Given the description of an element on the screen output the (x, y) to click on. 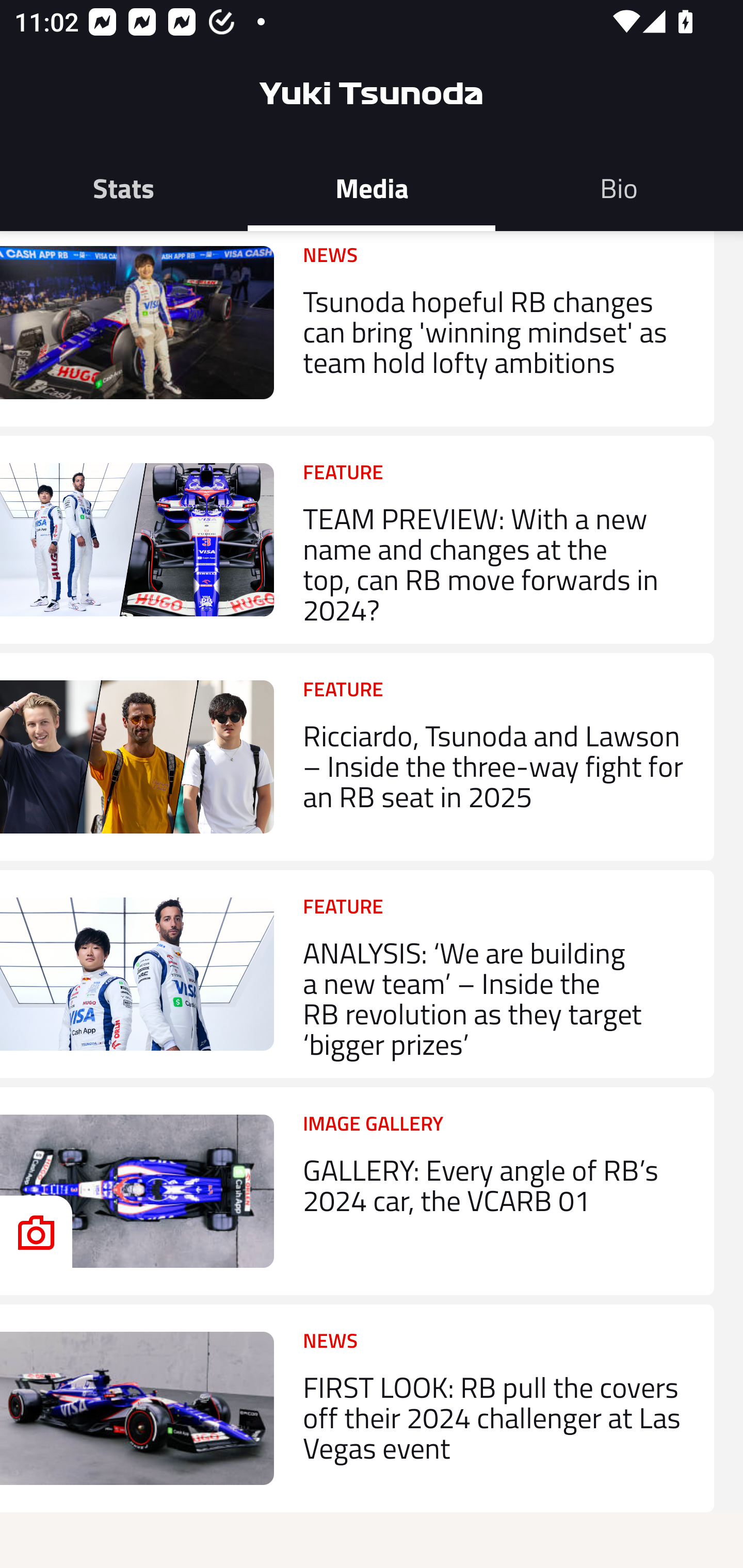
Stats (123, 187)
Bio (619, 187)
Image - Icon (36, 1231)
